Given the description of an element on the screen output the (x, y) to click on. 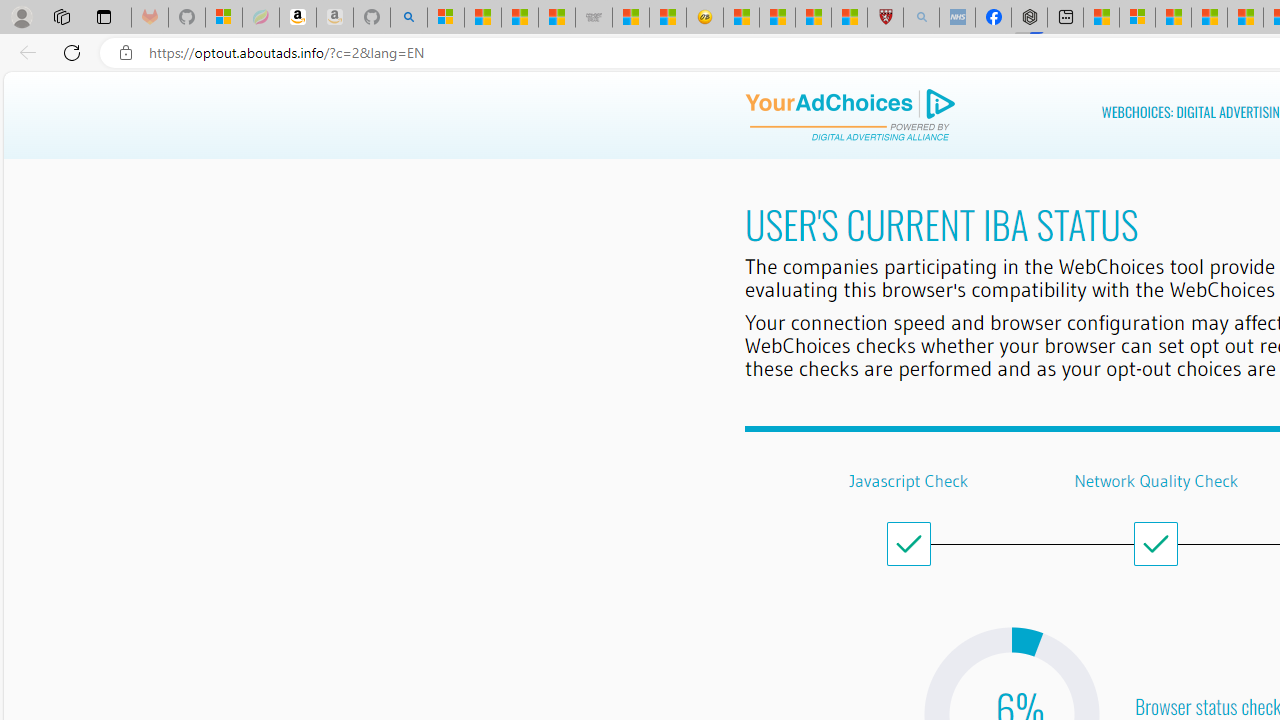
Robert H. Shmerling, MD - Harvard Health (884, 17)
DAA Logo (850, 115)
Nordace - Nordace Siena Is Not An Ordinary Backpack (1029, 17)
Combat Siege (593, 17)
MSNBC - MSN (519, 17)
12 Popular Science Lies that Must be Corrected (849, 17)
Recipes - MSN (741, 17)
